Given the description of an element on the screen output the (x, y) to click on. 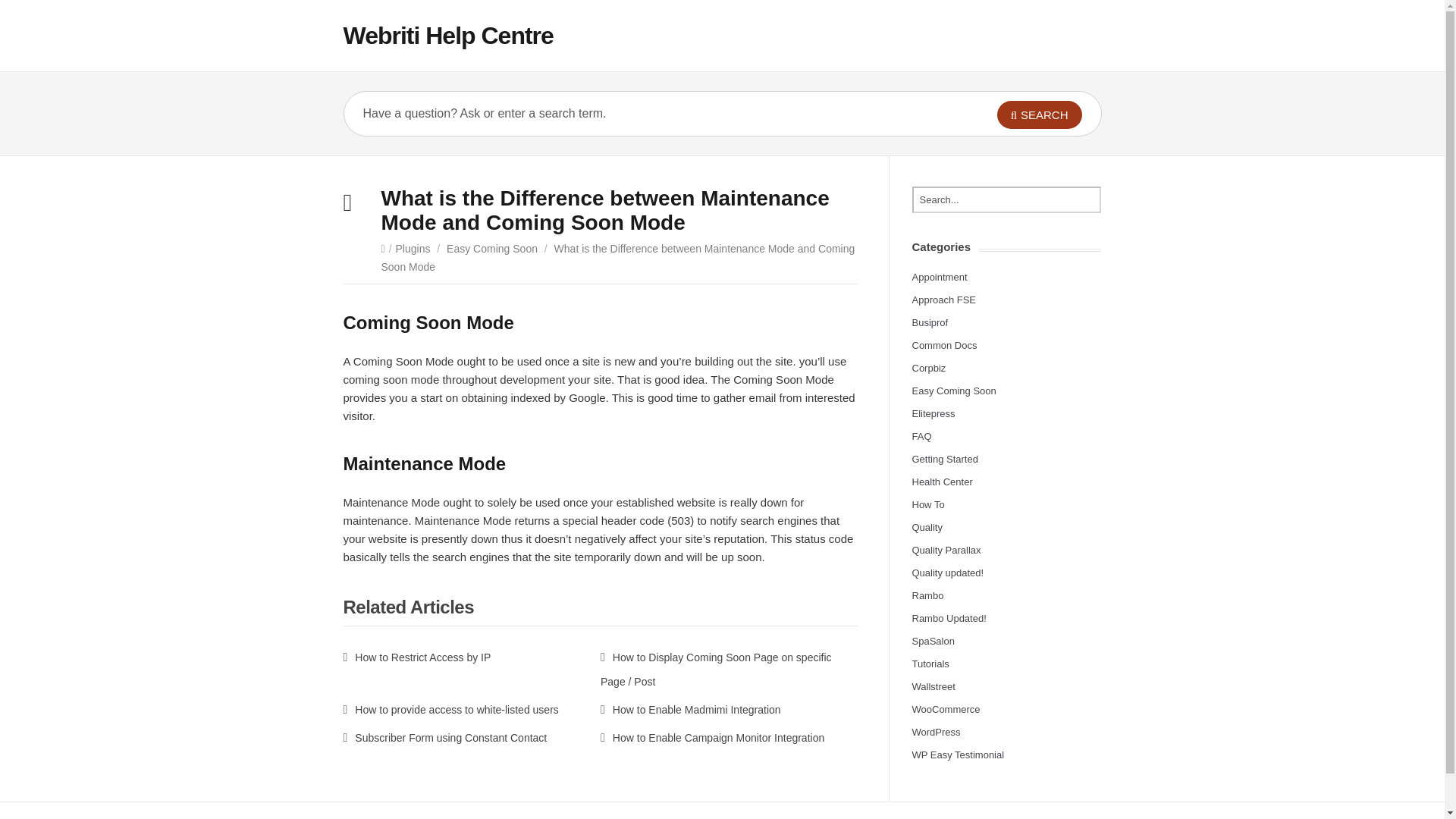
Easy Coming Soon (491, 248)
Elitepress (933, 413)
Appointment (938, 276)
Quality (926, 527)
Health Center (941, 481)
Subscriber Form using Constant Contact (444, 737)
Plugins (413, 248)
Corpbiz (927, 367)
Quality Parallax (945, 550)
How To (927, 504)
FAQ (921, 436)
Approach FSE (943, 299)
Tutorials (930, 663)
Easy Coming Soon (953, 390)
Getting Started (943, 459)
